Given the description of an element on the screen output the (x, y) to click on. 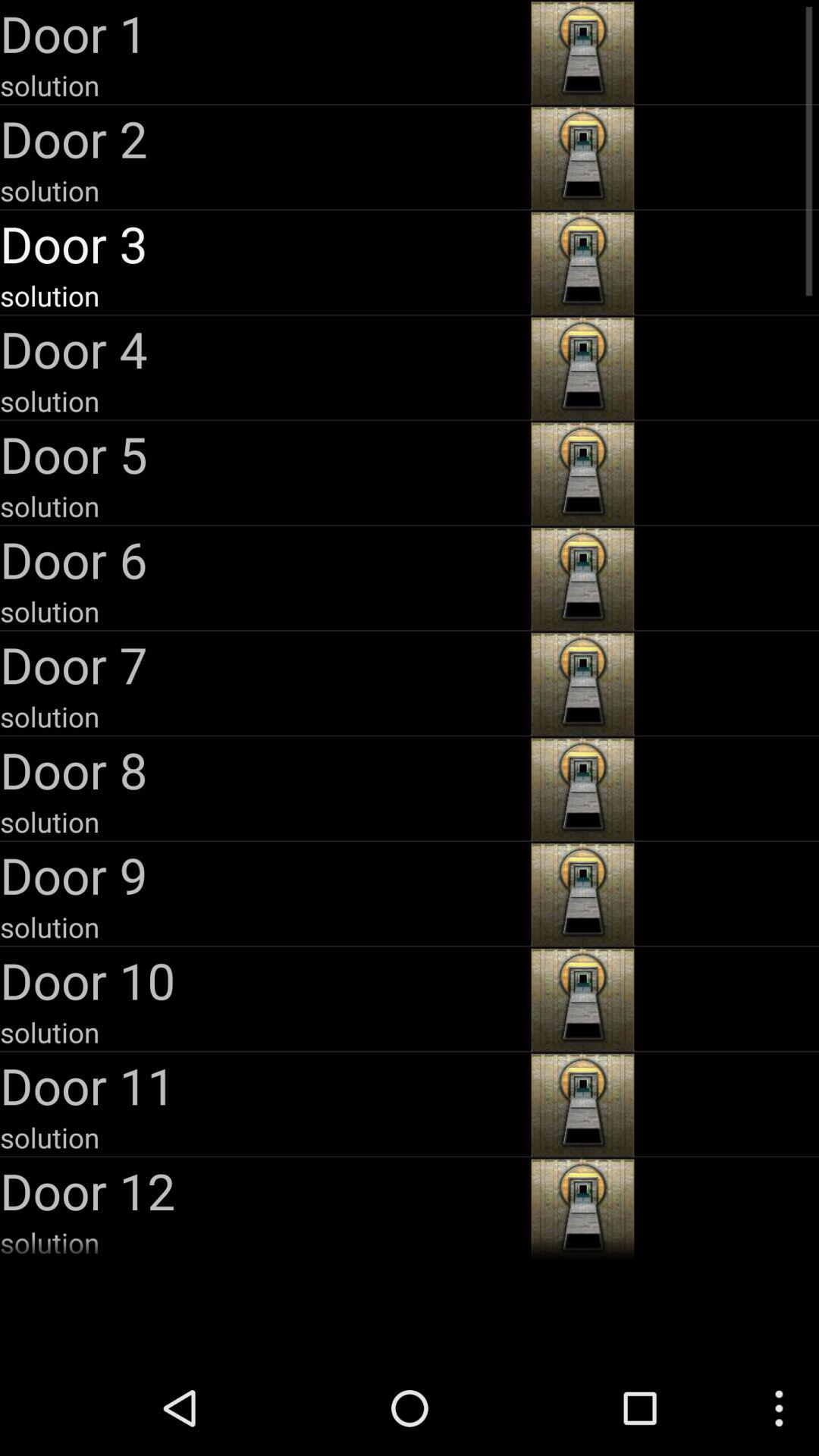
turn on item above the solution item (263, 348)
